Given the description of an element on the screen output the (x, y) to click on. 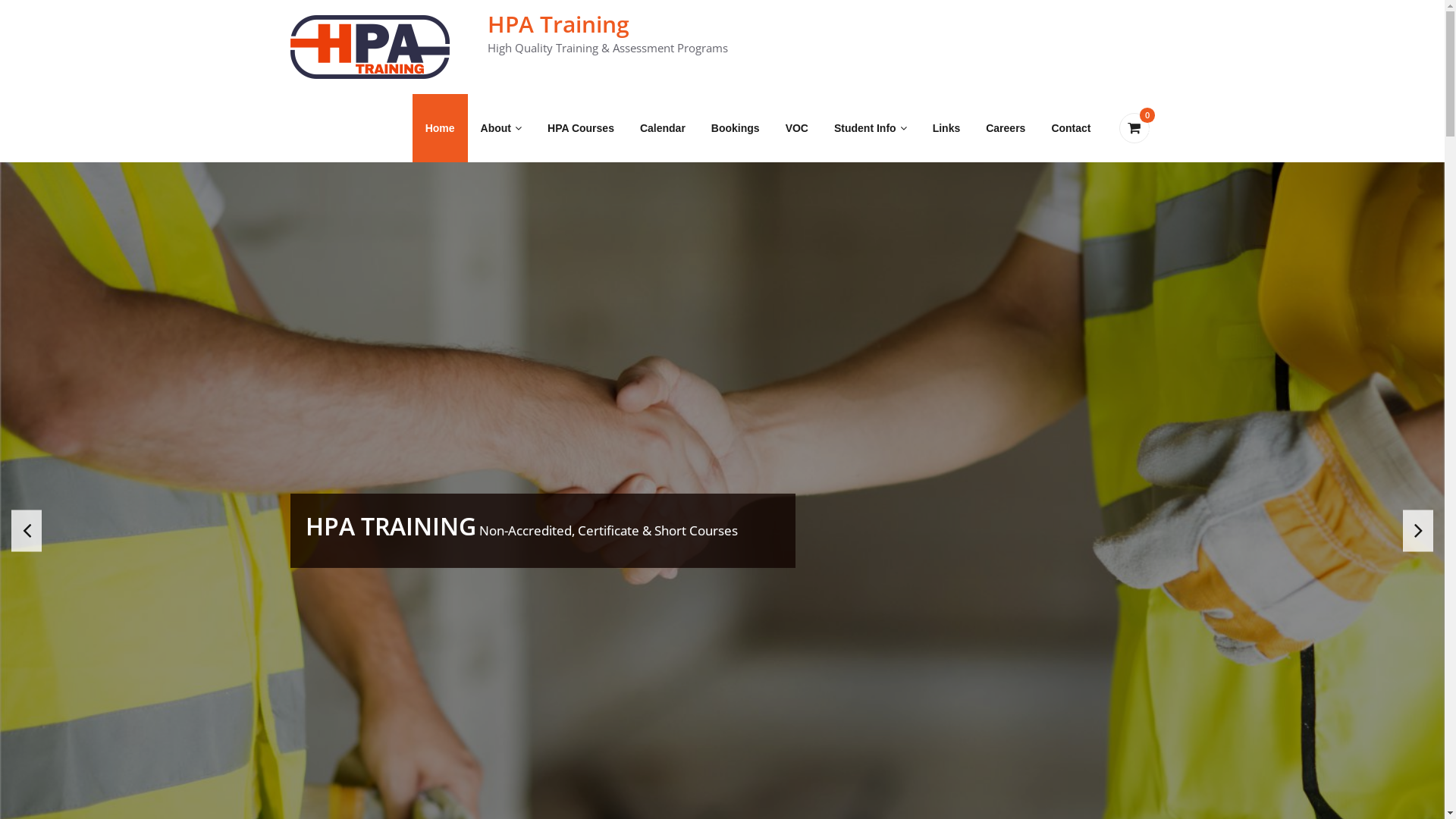
Calendar Element type: text (662, 128)
Student Info Element type: text (870, 128)
About Element type: text (500, 128)
Contact Element type: text (1070, 128)
HPA Courses Element type: text (580, 128)
VOC Element type: text (796, 128)
HPA Training Element type: text (557, 23)
Links Element type: text (946, 128)
Home Element type: text (439, 128)
Careers Element type: text (1005, 128)
Bookings Element type: text (735, 128)
